Given the description of an element on the screen output the (x, y) to click on. 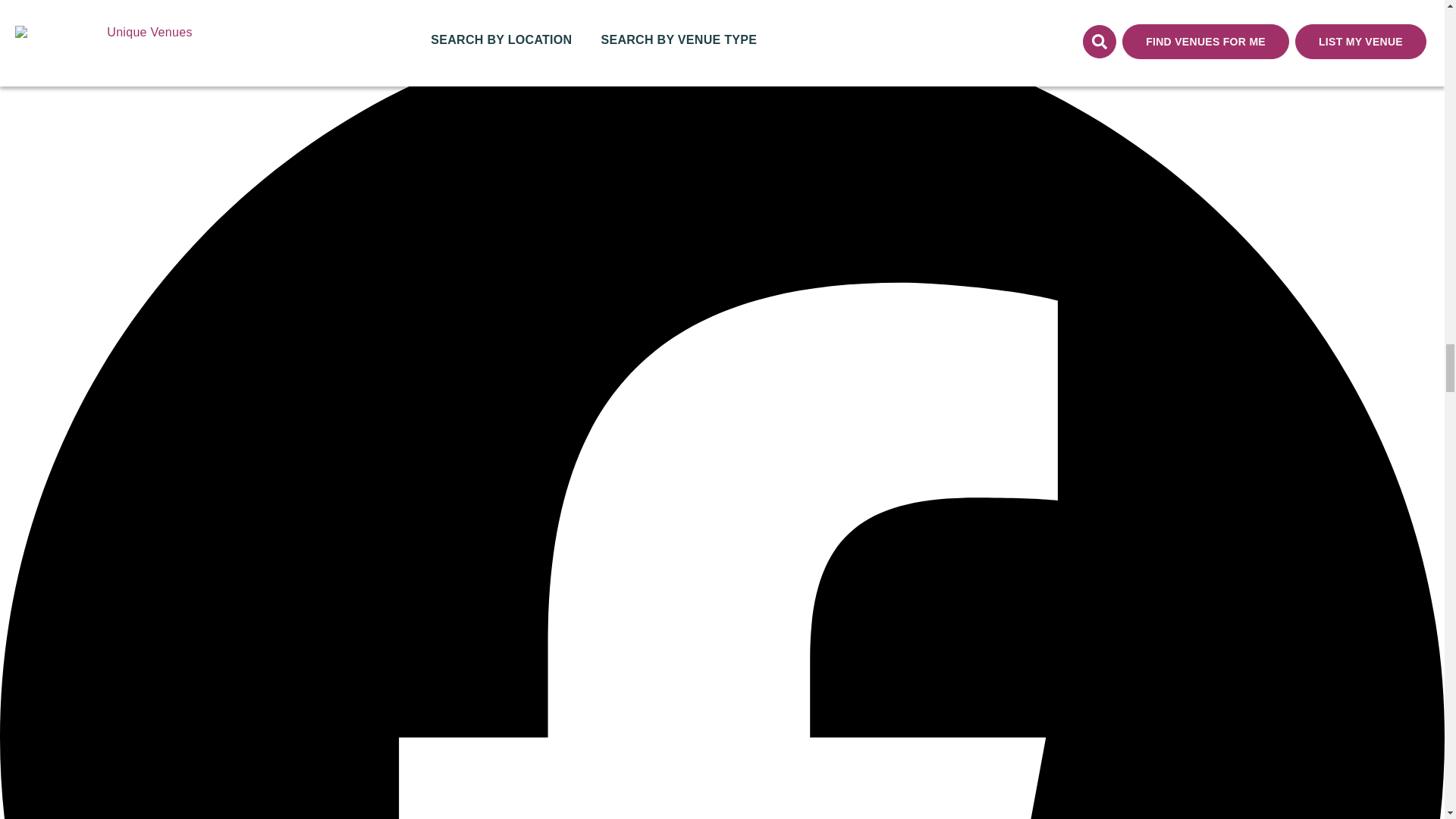
Company Contact Us Page Link (31, 7)
